Given the description of an element on the screen output the (x, y) to click on. 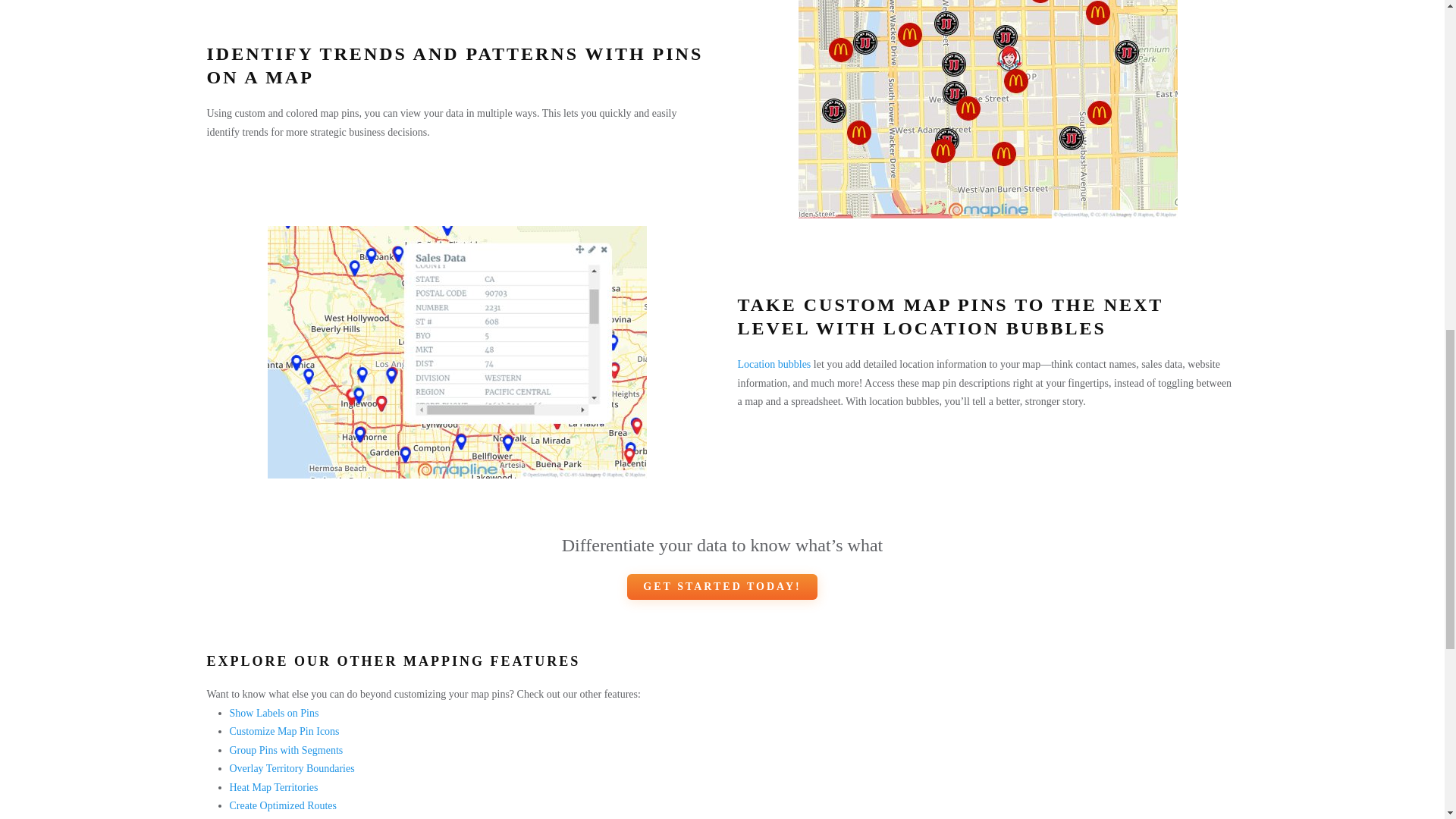
Show Labels on Pins (273, 713)
Customize Map Pin Icons (283, 731)
Location bubbles (773, 364)
GET STARTED TODAY! (721, 586)
